Given the description of an element on the screen output the (x, y) to click on. 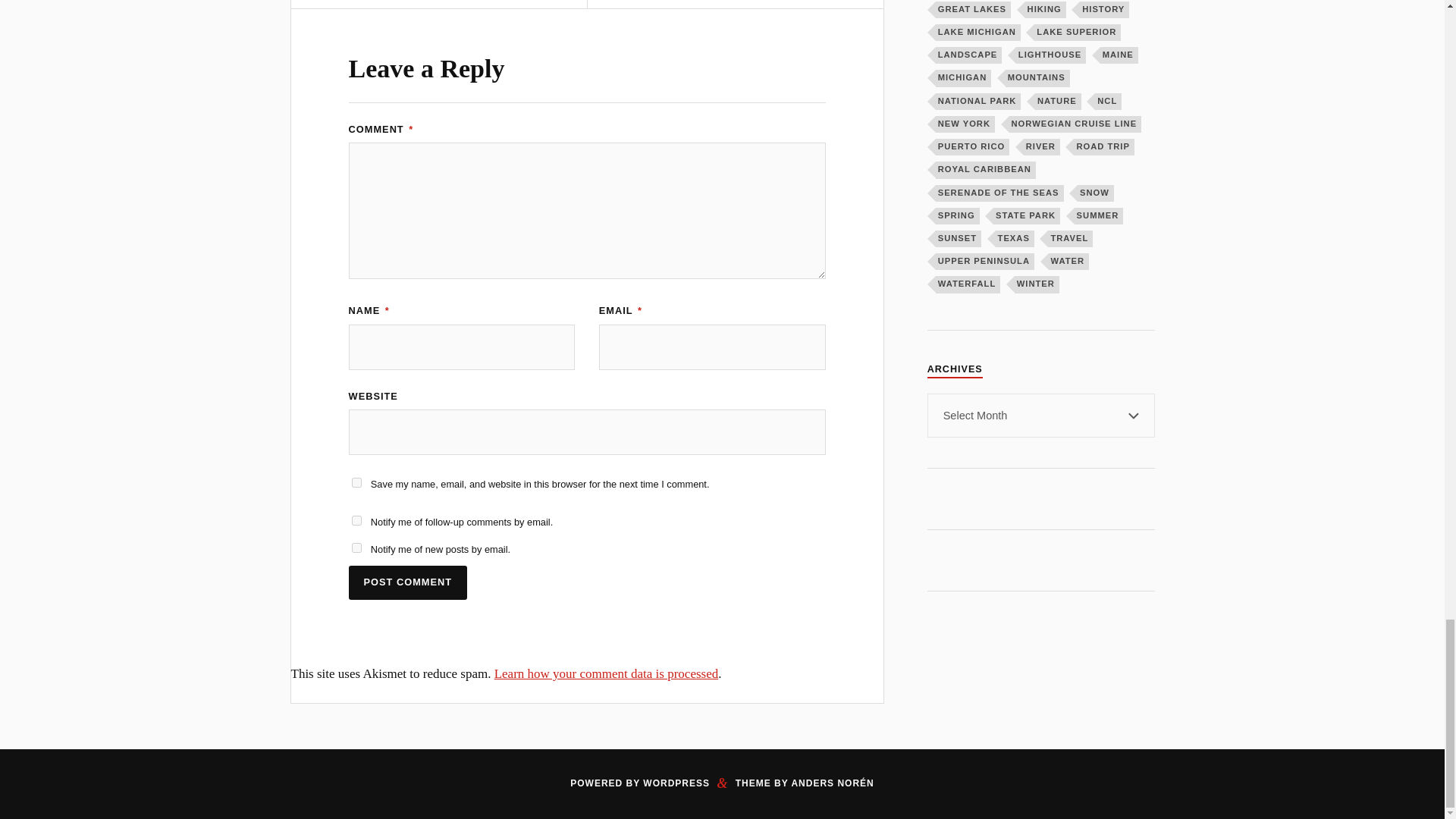
subscribe (356, 520)
yes (356, 482)
subscribe (356, 547)
Post Comment (408, 582)
